Given the description of an element on the screen output the (x, y) to click on. 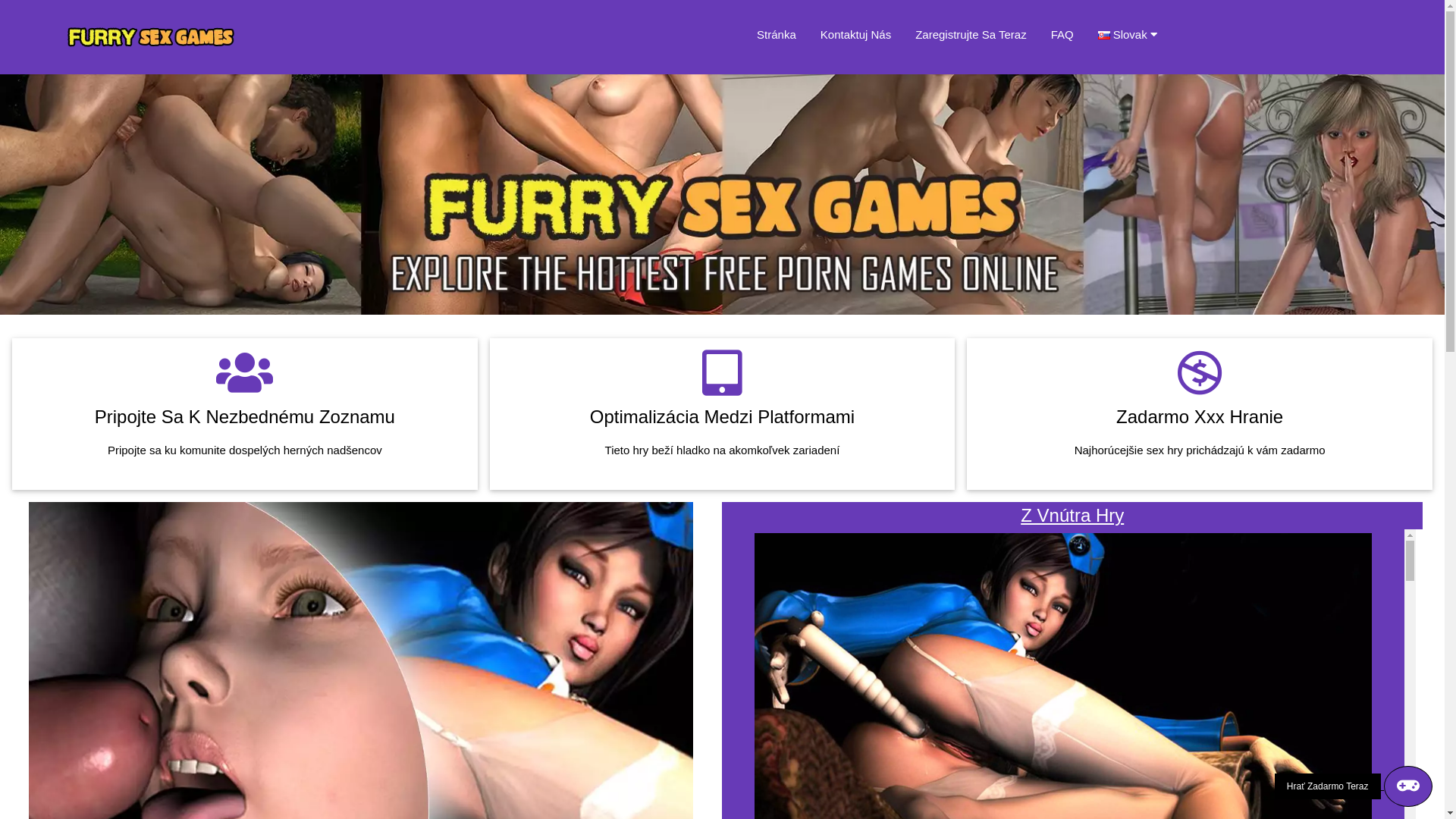
FAQ Element type: text (1061, 35)
Zaregistrujte Sa Teraz Element type: text (970, 35)
Slovak Element type: text (1133, 35)
